Given the description of an element on the screen output the (x, y) to click on. 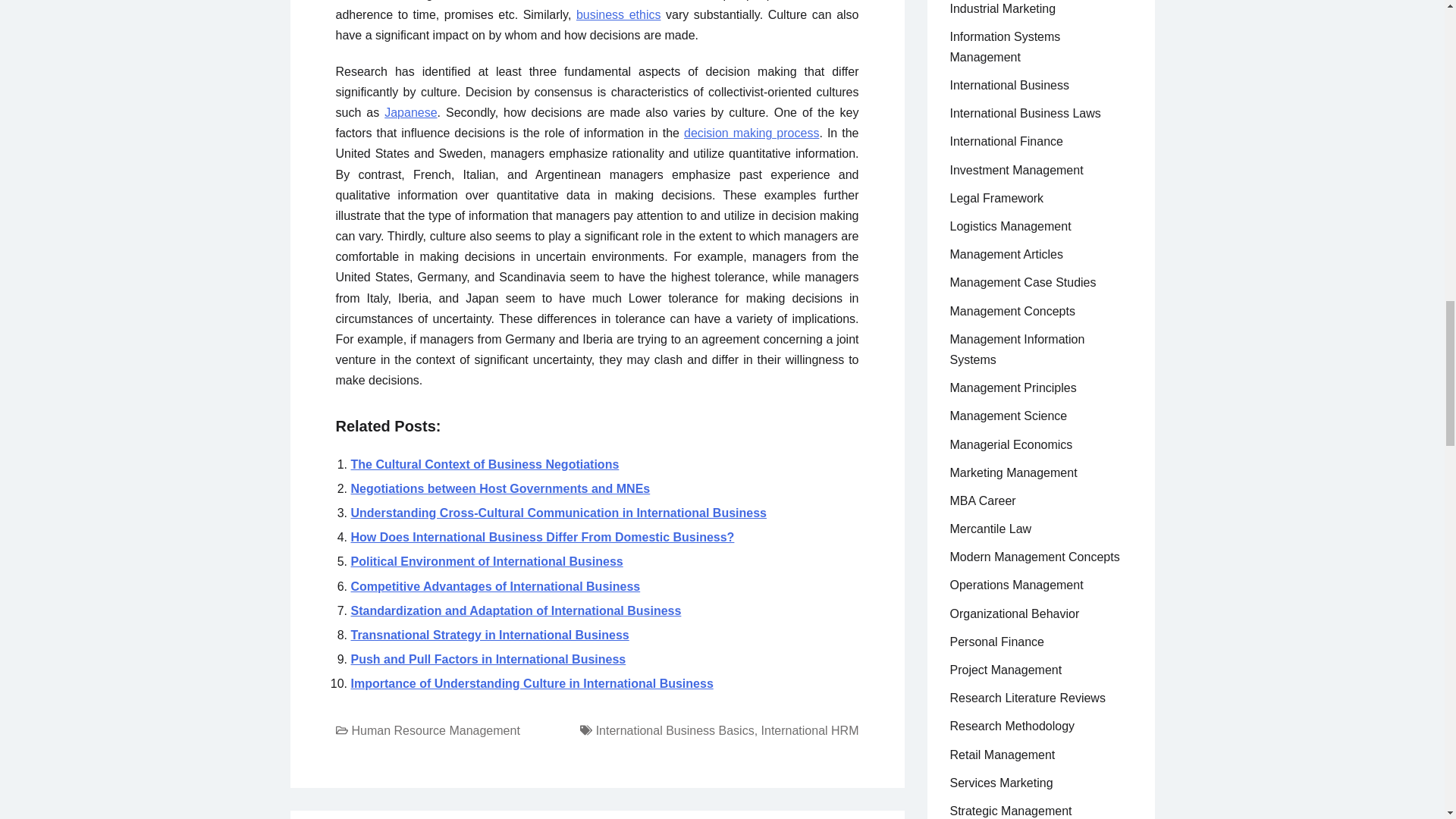
Negotiations between Host Governments and MNEs (499, 488)
International Business Basics (674, 730)
Transnational Strategy in International Business (489, 634)
Negotiations between Host Governments and MNEs (499, 488)
Push and Pull Factors in International Business (488, 658)
Human Resource Management (435, 730)
Political Environment of International Business (486, 561)
